Given the description of an element on the screen output the (x, y) to click on. 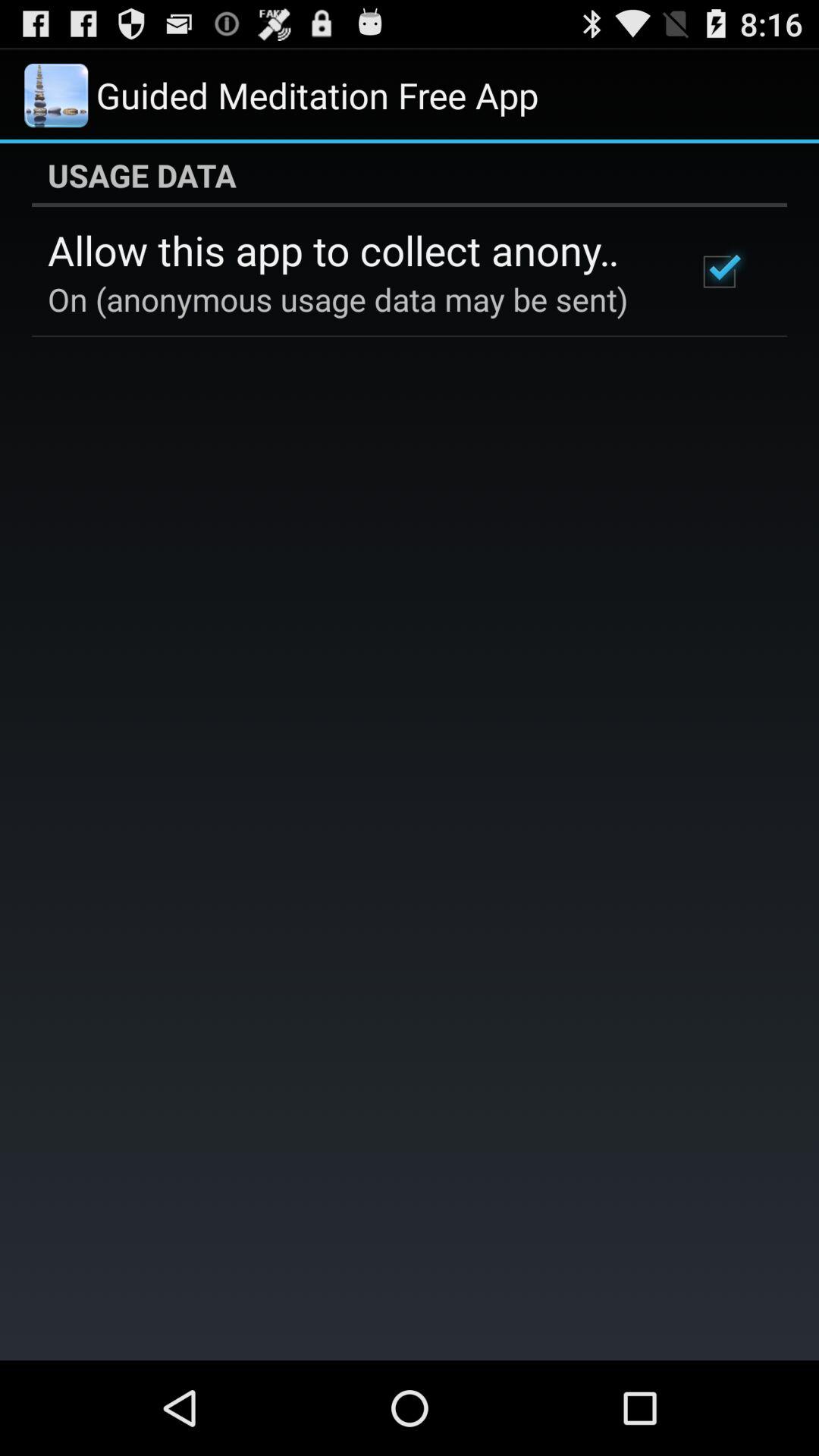
click the app below usage data (351, 249)
